Given the description of an element on the screen output the (x, y) to click on. 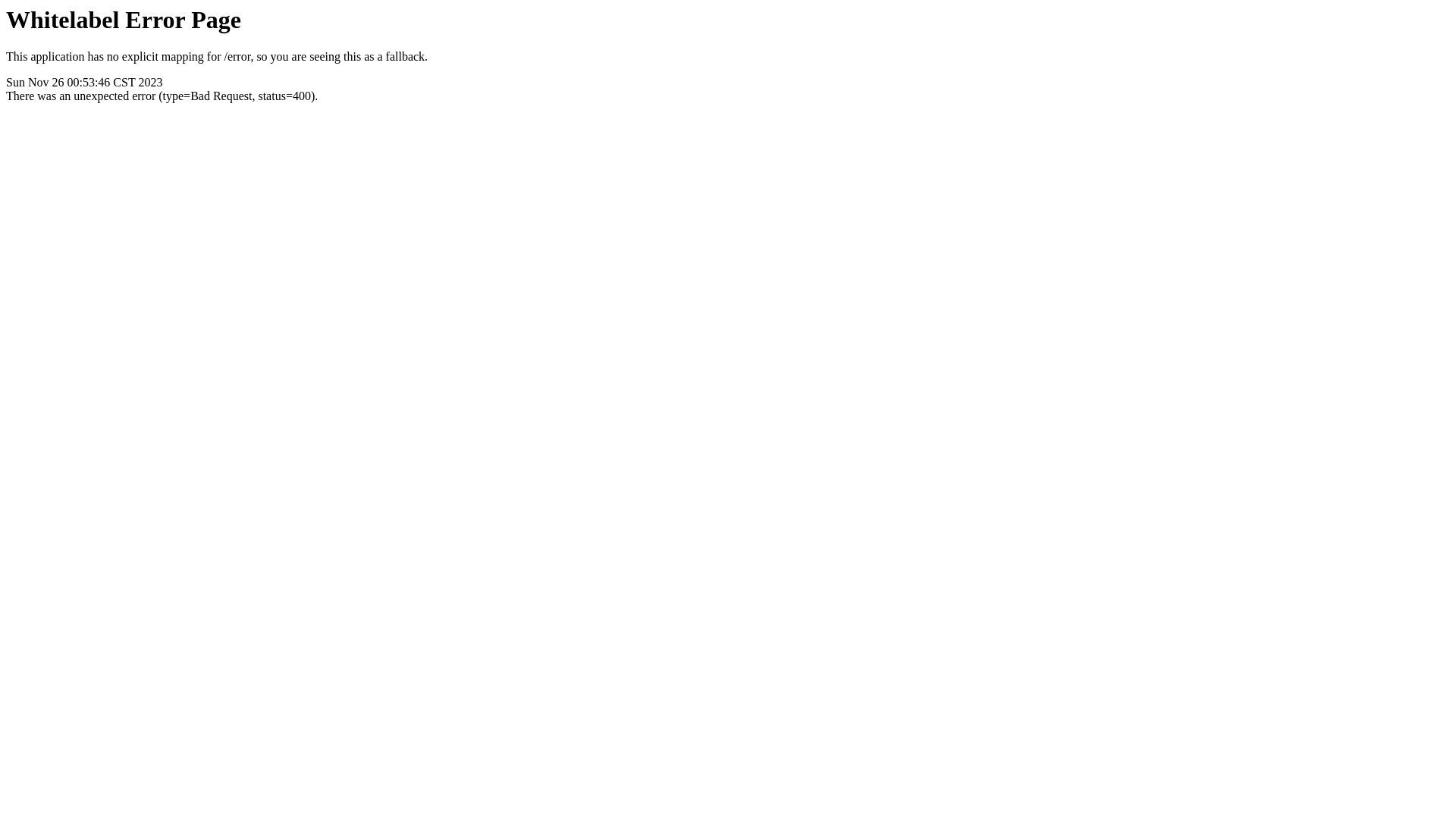
https://skrbtpu.top/ Element type: text (727, 236)
